Given the description of an element on the screen output the (x, y) to click on. 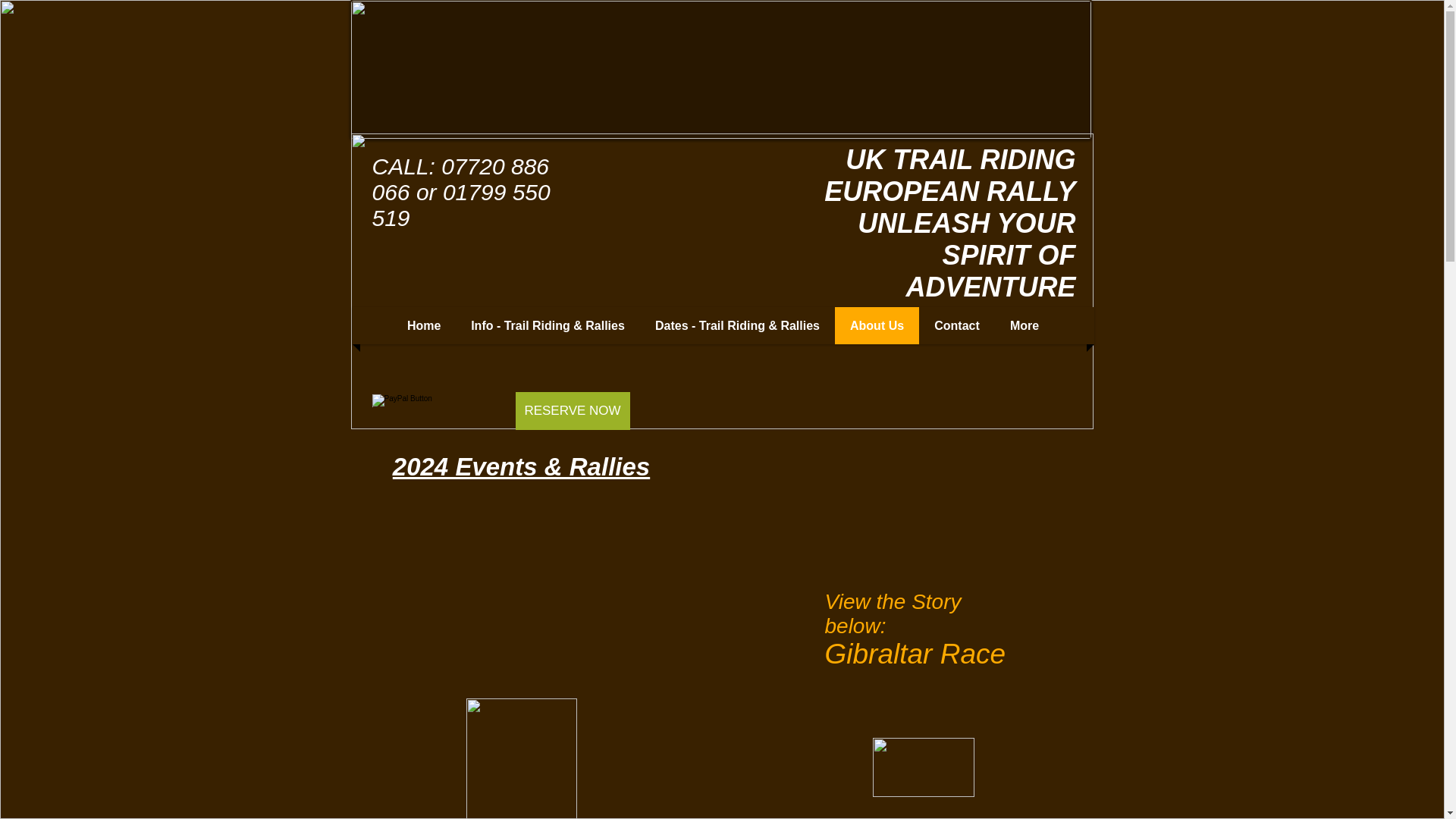
Contact (957, 325)
HardAlpiTour-SanremoSestiere-vert-600x60 (923, 766)
SGT.png (520, 758)
RESERVE NOW (572, 410)
About Us (876, 325)
Home (423, 325)
